Given the description of an element on the screen output the (x, y) to click on. 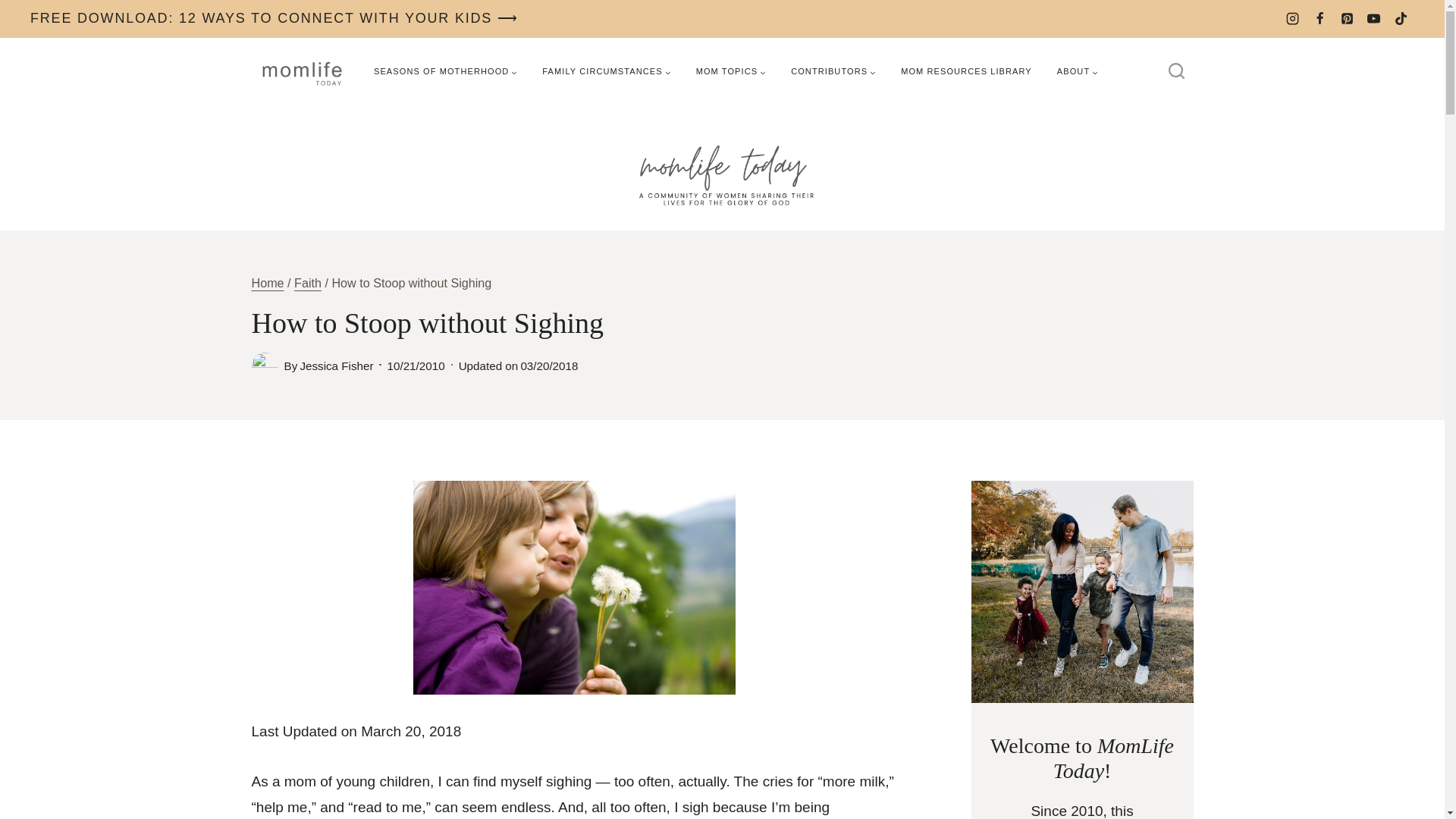
MOM RESOURCES LIBRARY (966, 71)
CONTRIBUTORS (833, 71)
MOM TOPICS (730, 71)
FAMILY CIRCUMSTANCES (605, 71)
SEASONS OF MOTHERHOOD (445, 71)
